Given the description of an element on the screen output the (x, y) to click on. 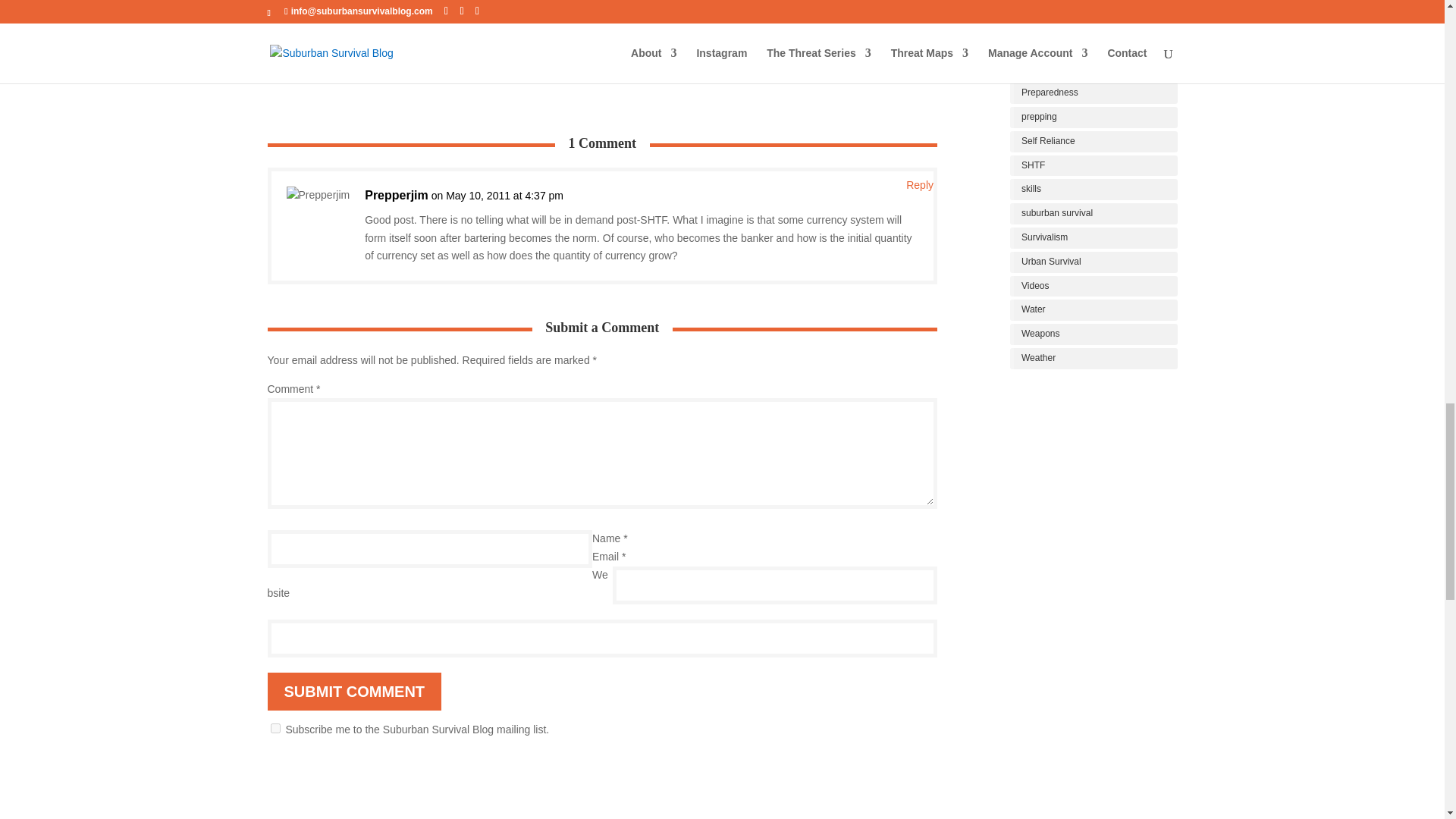
Why Every Prepper Needs a Mini Ice Maker in an Emergency (376, 46)
subscribe (274, 728)
Why Every Prepper Needs a Mini Ice Maker in an Emergency (380, 12)
Submit Comment (353, 691)
